Given the description of an element on the screen output the (x, y) to click on. 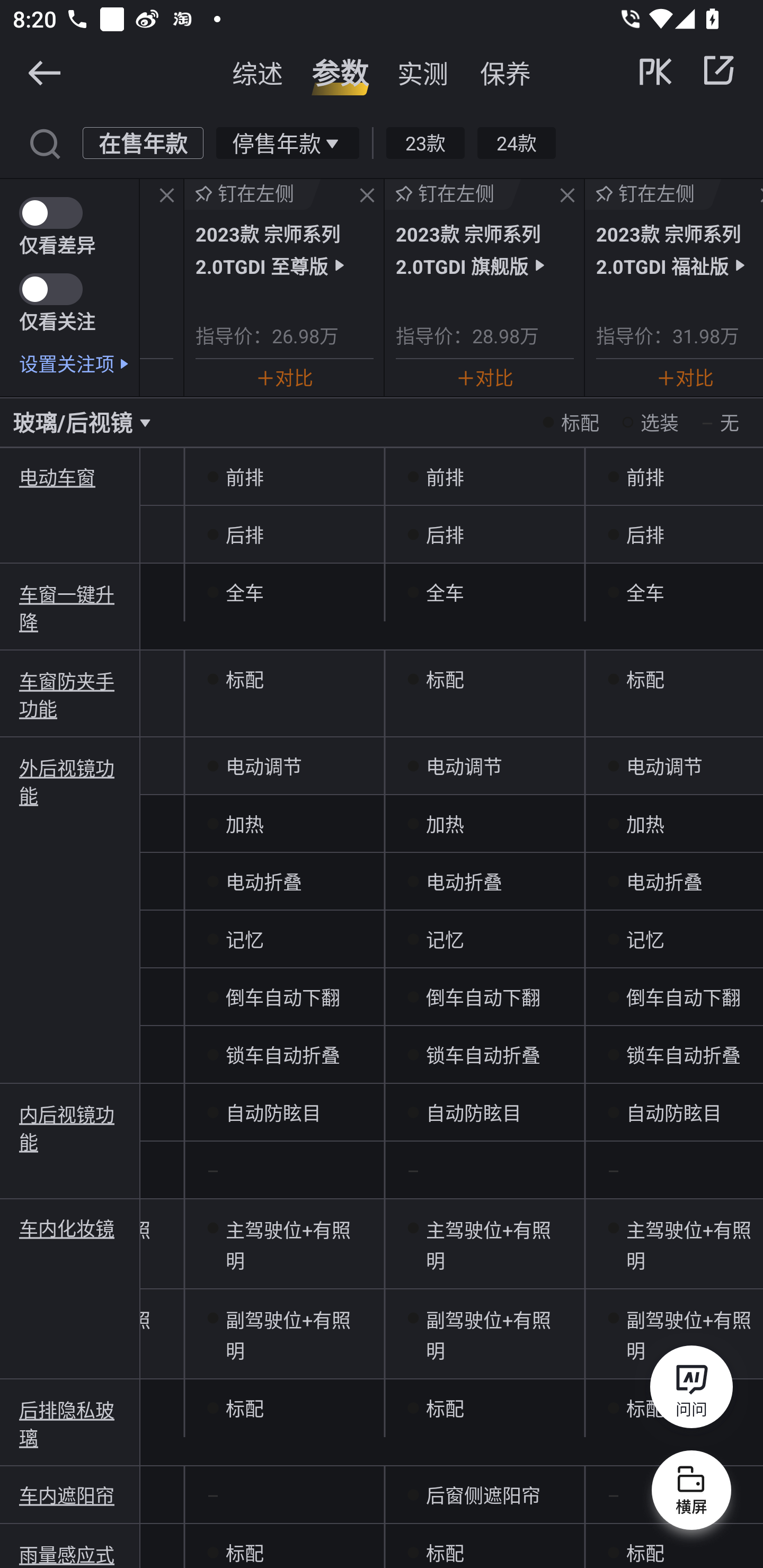
  (688, 70)
综述 (257, 72)
实测 (422, 72)
保养 (505, 72)
 (718, 70)
 (44, 71)
 (44, 142)
在售年款 (142, 142)
停售年款  (287, 142)
23款 (425, 142)
24款 (516, 142)
 (166, 195)
 钉在左侧 (252, 194)
 (366, 195)
 钉在左侧 (452, 194)
 (567, 195)
 钉在左侧 (653, 194)
2023款 宗师系列 2.0TGDI 至尊版  (284, 249)
2023款 宗师系列 2.0TGDI 旗舰版  (484, 249)
2023款 宗师系列 2.0TGDI 福祉版  (679, 249)
设置关注项  (79, 363)
对比 (283, 377)
对比 (484, 377)
对比 (684, 377)
玻璃/后视镜  标配 选装 无 (381, 422)
前排 (284, 477)
前排 (484, 477)
前排 (674, 477)
电动车窗 (69, 476)
后排 (284, 534)
后排 (484, 534)
后排 (674, 534)
全车 (284, 591)
全车 (484, 591)
全车 (674, 591)
车窗一键升降 (69, 607)
标配 (284, 679)
标配 (484, 679)
标配 (674, 679)
车窗防夹手功能 (69, 693)
电动调节 (284, 765)
电动调节 (484, 765)
电动调节 (674, 765)
外后视镜功能 (69, 780)
加热 (284, 823)
加热 (484, 823)
加热 (674, 823)
电动折叠 (284, 881)
电动折叠 (484, 881)
电动折叠 (674, 881)
记忆 (284, 940)
记忆 (484, 940)
记忆 (674, 940)
倒车自动下翻 (284, 997)
倒车自动下翻 (484, 997)
倒车自动下翻 (674, 997)
锁车自动折叠 (284, 1054)
锁车自动折叠 (484, 1054)
锁车自动折叠 (674, 1054)
自动防眩目 (284, 1112)
自动防眩目 (484, 1112)
自动防眩目 (674, 1112)
内后视镜功能 (69, 1126)
主驾驶位+有照明 (284, 1243)
主驾驶位+有照明 (484, 1243)
主驾驶位+有照明 (674, 1243)
车内化妆镜 (69, 1228)
副驾驶位+有照明 (284, 1333)
副驾驶位+有照明 (484, 1333)
副驾驶位+有照明 (674, 1333)
 问问 (691, 1389)
标配 (284, 1408)
标配 (484, 1408)
后排隐私玻璃 (69, 1422)
后窗侧遮阳帘 (484, 1495)
车内遮阳帘 (69, 1494)
标配 (284, 1546)
标配 (484, 1546)
标配 (674, 1546)
雨量感应式雨刷 (69, 1553)
